Given the description of an element on the screen output the (x, y) to click on. 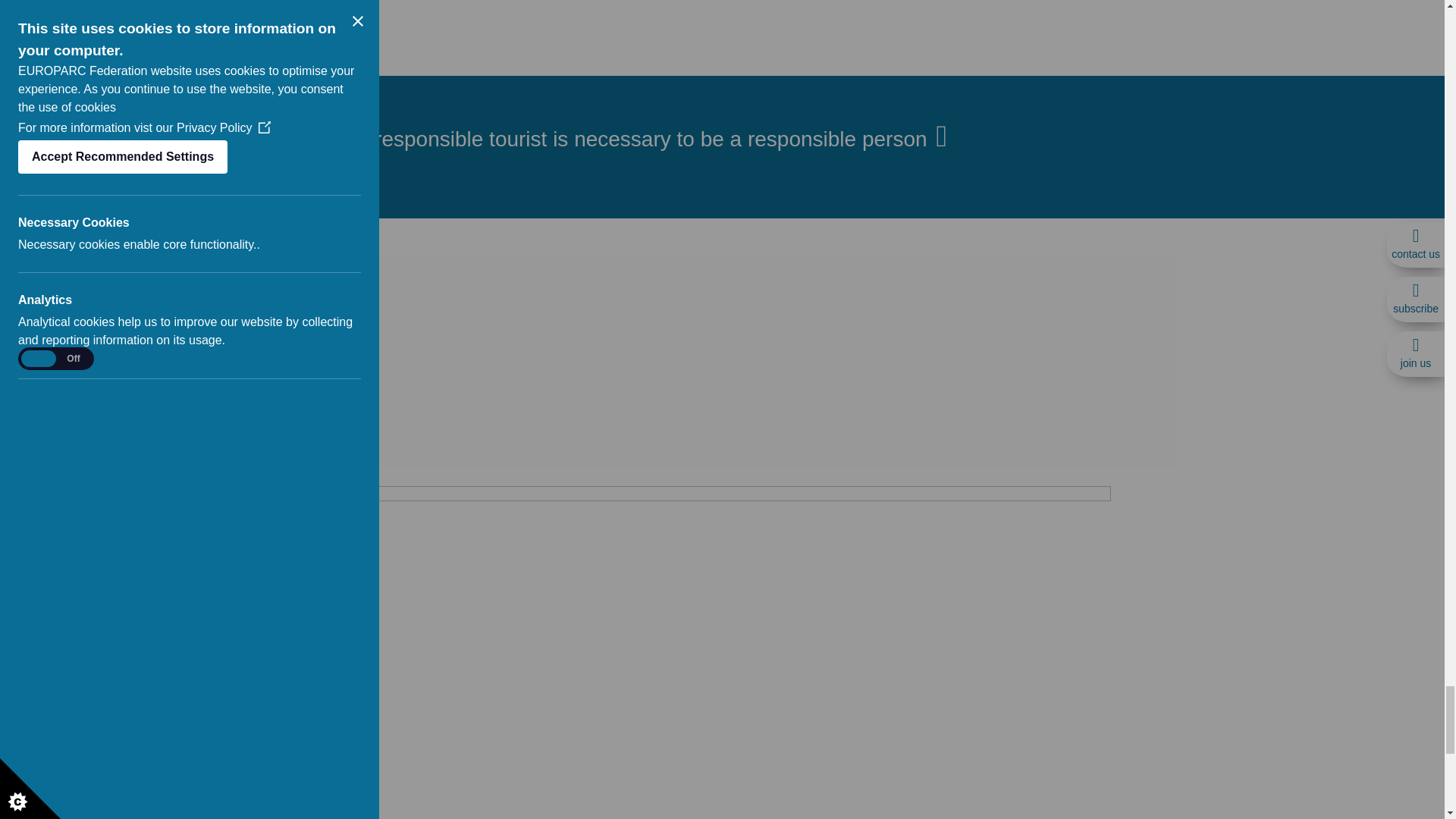
A Sustainable Journey (721, 360)
